Given the description of an element on the screen output the (x, y) to click on. 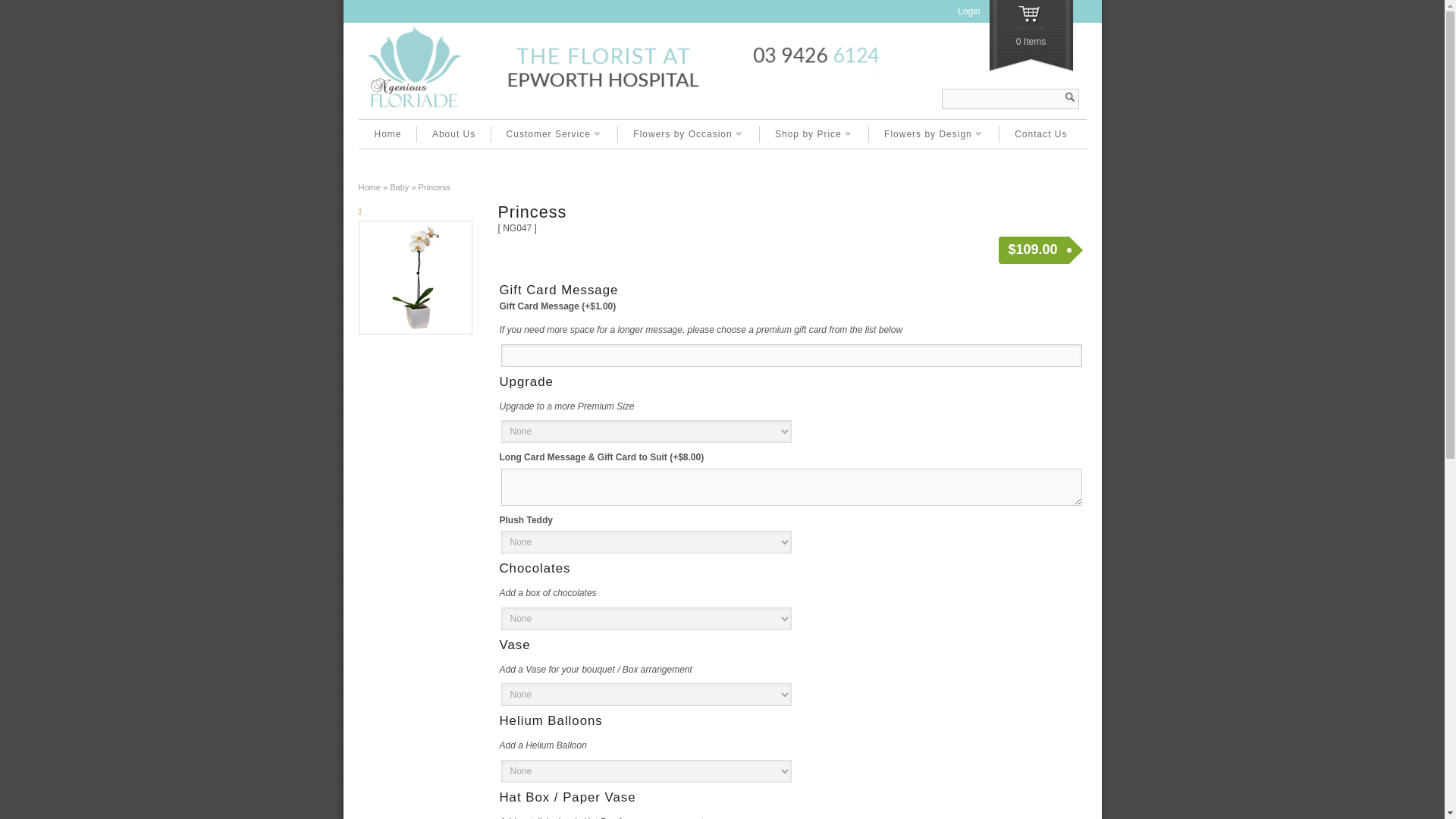
0 Items (1031, 36)
Epworth Hospital Florist, Ngenious Floriade Richmond (623, 109)
Home (387, 134)
NG047 (414, 277)
About Us (453, 134)
Login (968, 11)
